Given the description of an element on the screen output the (x, y) to click on. 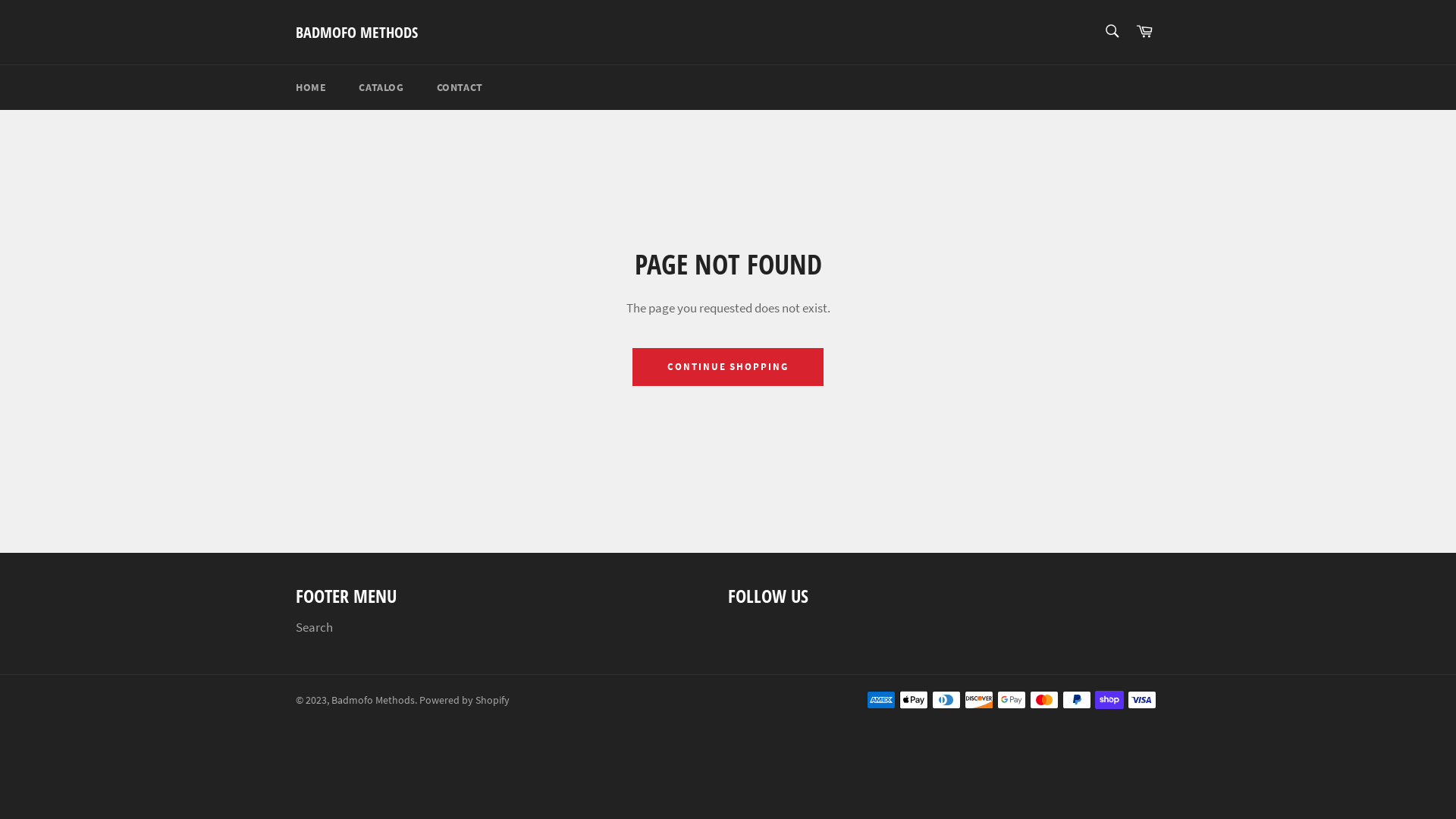
CONTACT Element type: text (459, 87)
BADMOFO METHODS Element type: text (356, 32)
Powered by Shopify Element type: text (464, 699)
Search Element type: text (313, 626)
Cart Element type: text (1144, 32)
CATALOG Element type: text (380, 87)
CONTINUE SHOPPING Element type: text (727, 366)
Search Element type: text (1111, 31)
HOME Element type: text (310, 87)
Badmofo Methods Element type: text (372, 699)
